Given the description of an element on the screen output the (x, y) to click on. 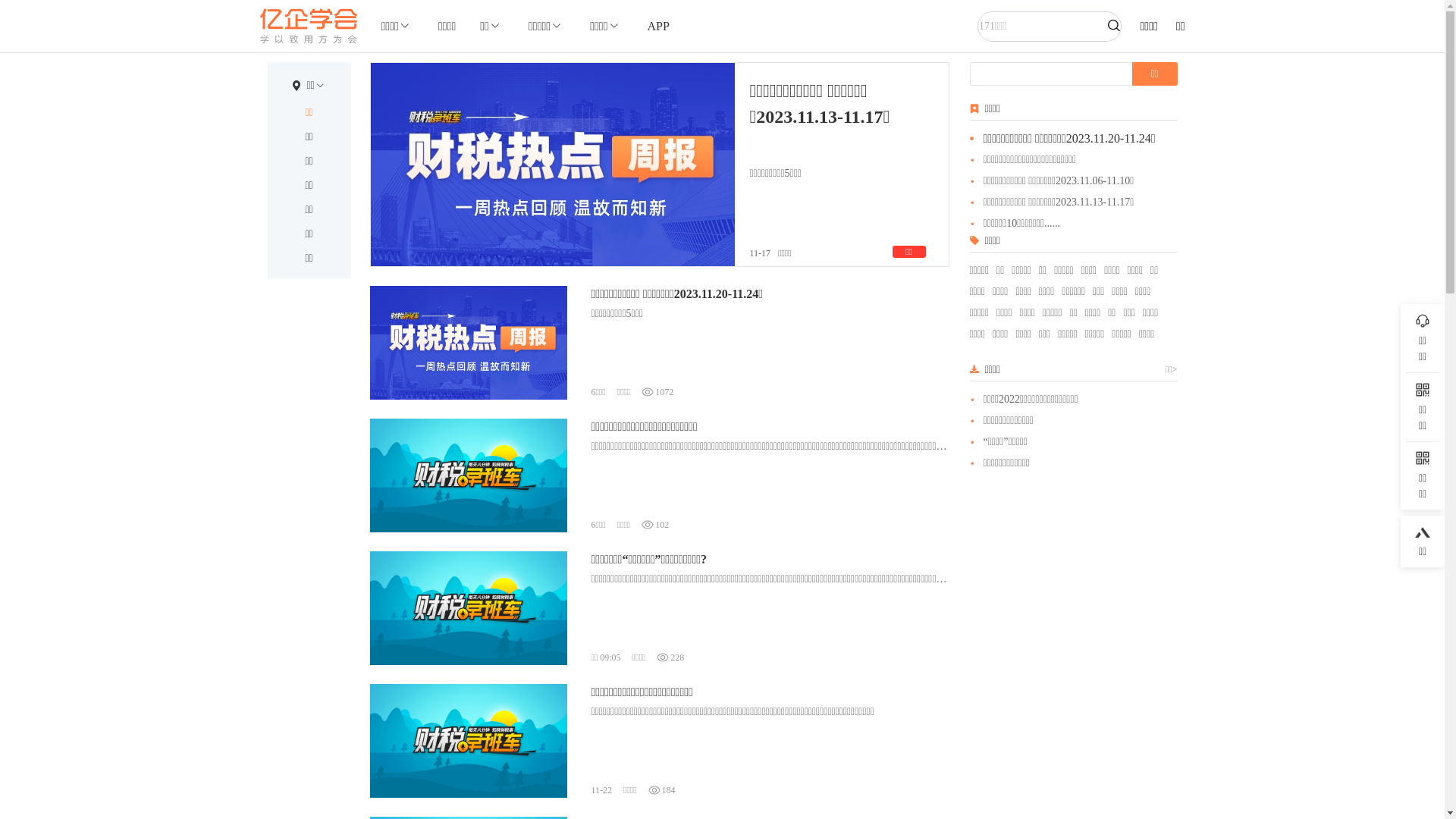
APP Element type: text (658, 25)
